Given the description of an element on the screen output the (x, y) to click on. 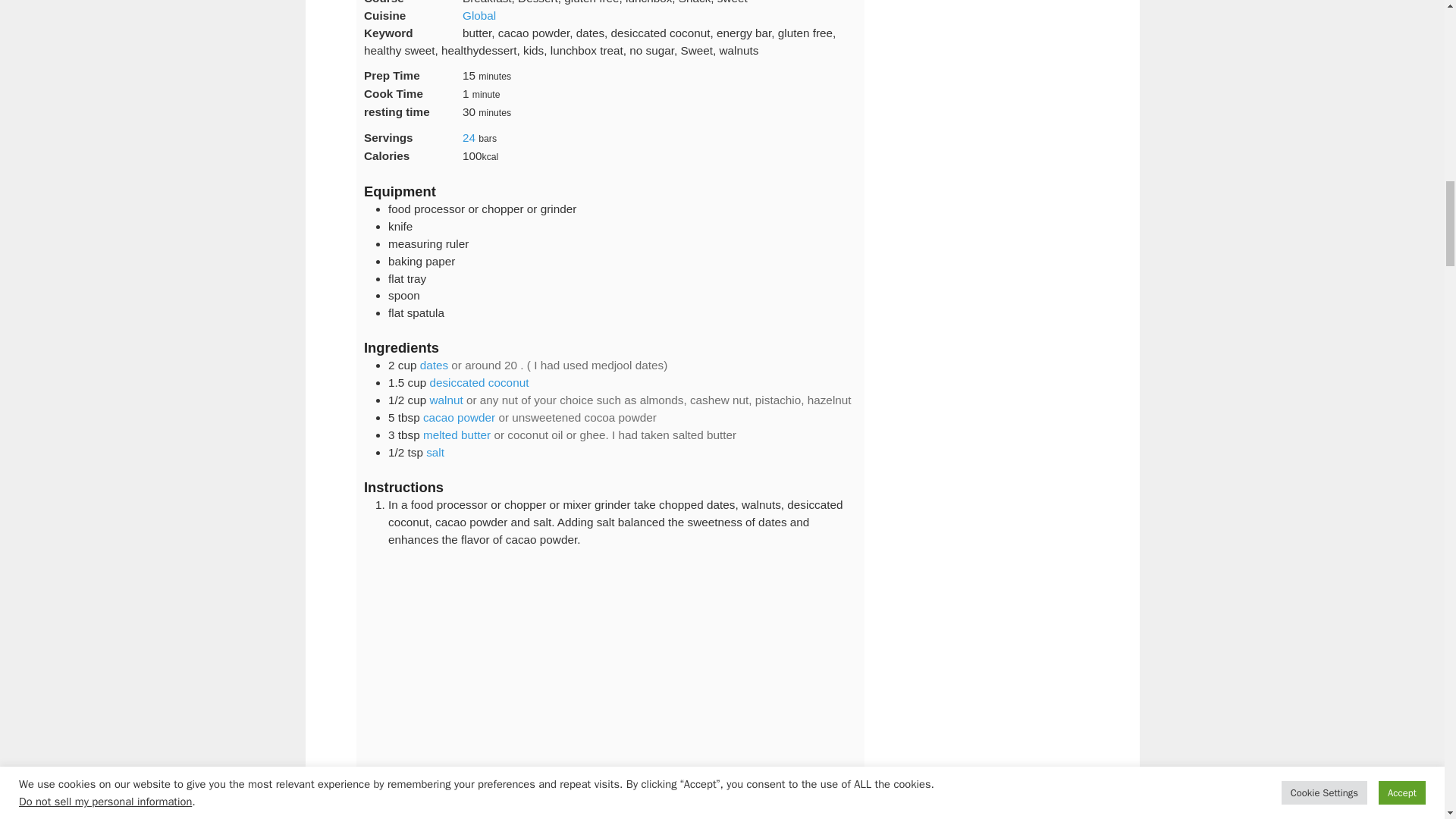
walnut (446, 399)
dates (434, 364)
24 (469, 137)
Global (479, 15)
melted butter (456, 434)
cacao powder (459, 417)
desiccated coconut (478, 382)
salt (435, 451)
